Given the description of an element on the screen output the (x, y) to click on. 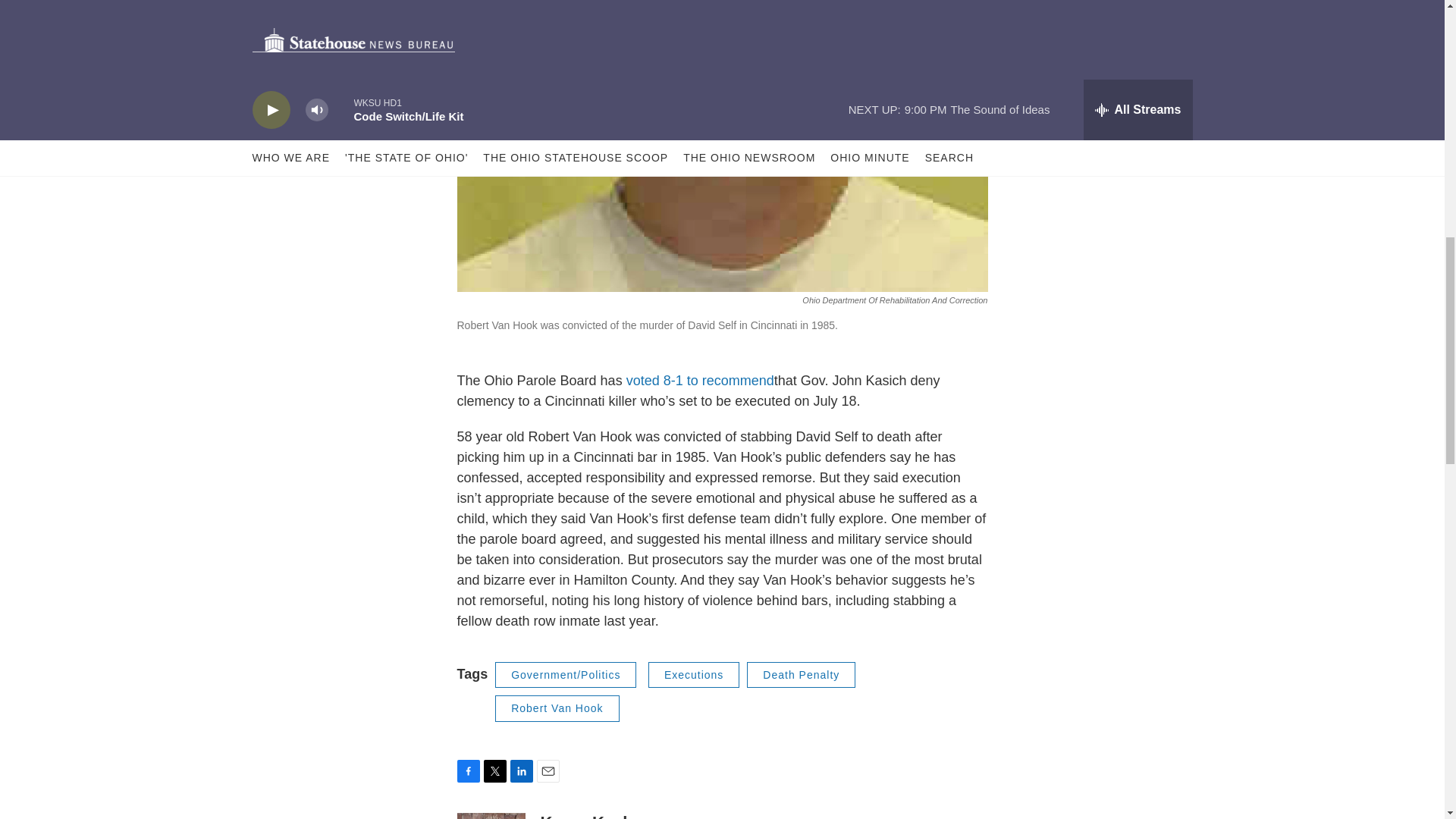
Death Penalty (801, 674)
Executions (693, 674)
voted 8-1 to recommend (700, 380)
